Given the description of an element on the screen output the (x, y) to click on. 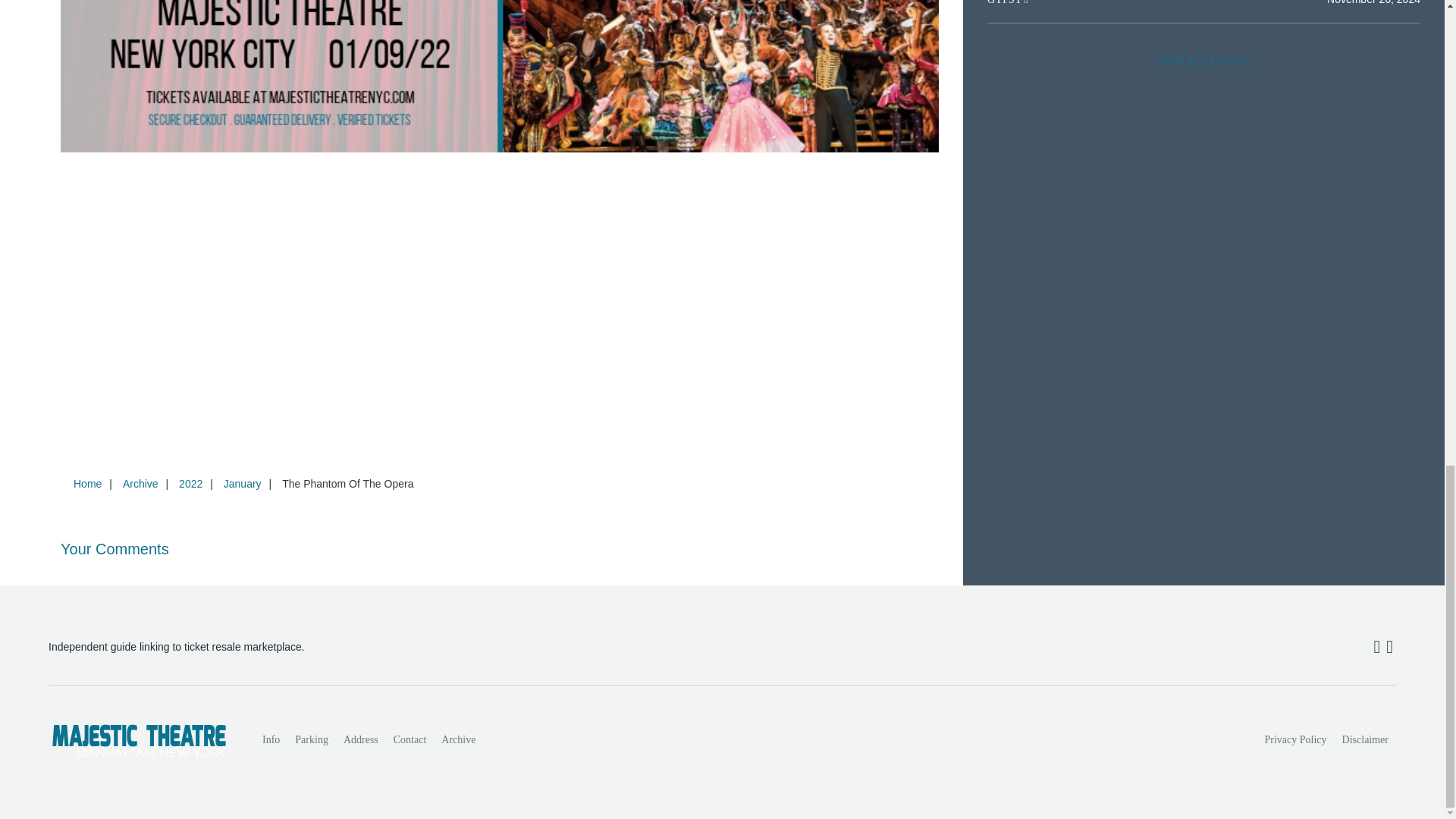
Archive (458, 739)
Info (270, 739)
Home (87, 483)
VIEW ALL EVENTS (1203, 61)
Archive (140, 483)
The Phantom Of The Opera at Majestic Theatre tickets (500, 76)
January (242, 483)
Contact (409, 739)
Privacy Policy (1296, 739)
Parking (311, 739)
2022 (190, 483)
Address (360, 739)
Disclaimer (1365, 739)
